Given the description of an element on the screen output the (x, y) to click on. 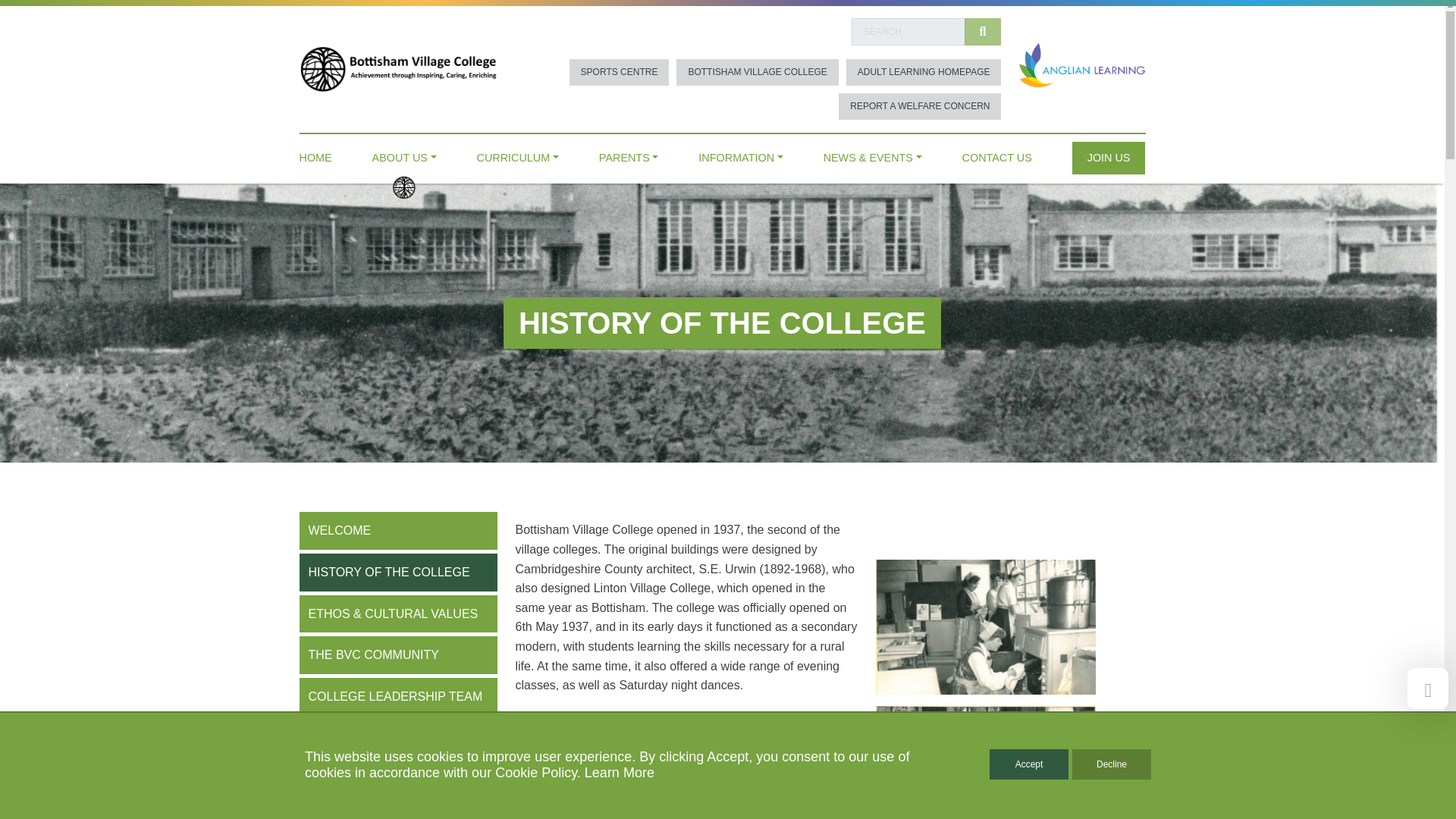
ABOUT US (404, 154)
Anglian Learning (1081, 64)
CURRICULUM (518, 154)
REPORT A WELFARE CONCERN (919, 106)
ADULT LEARNING HOMEPAGE (923, 71)
PARENTS (628, 154)
HOME (314, 154)
BOTTISHAM VILLAGE COLLEGE (757, 71)
SPORTS CENTRE (619, 71)
